Given the description of an element on the screen output the (x, y) to click on. 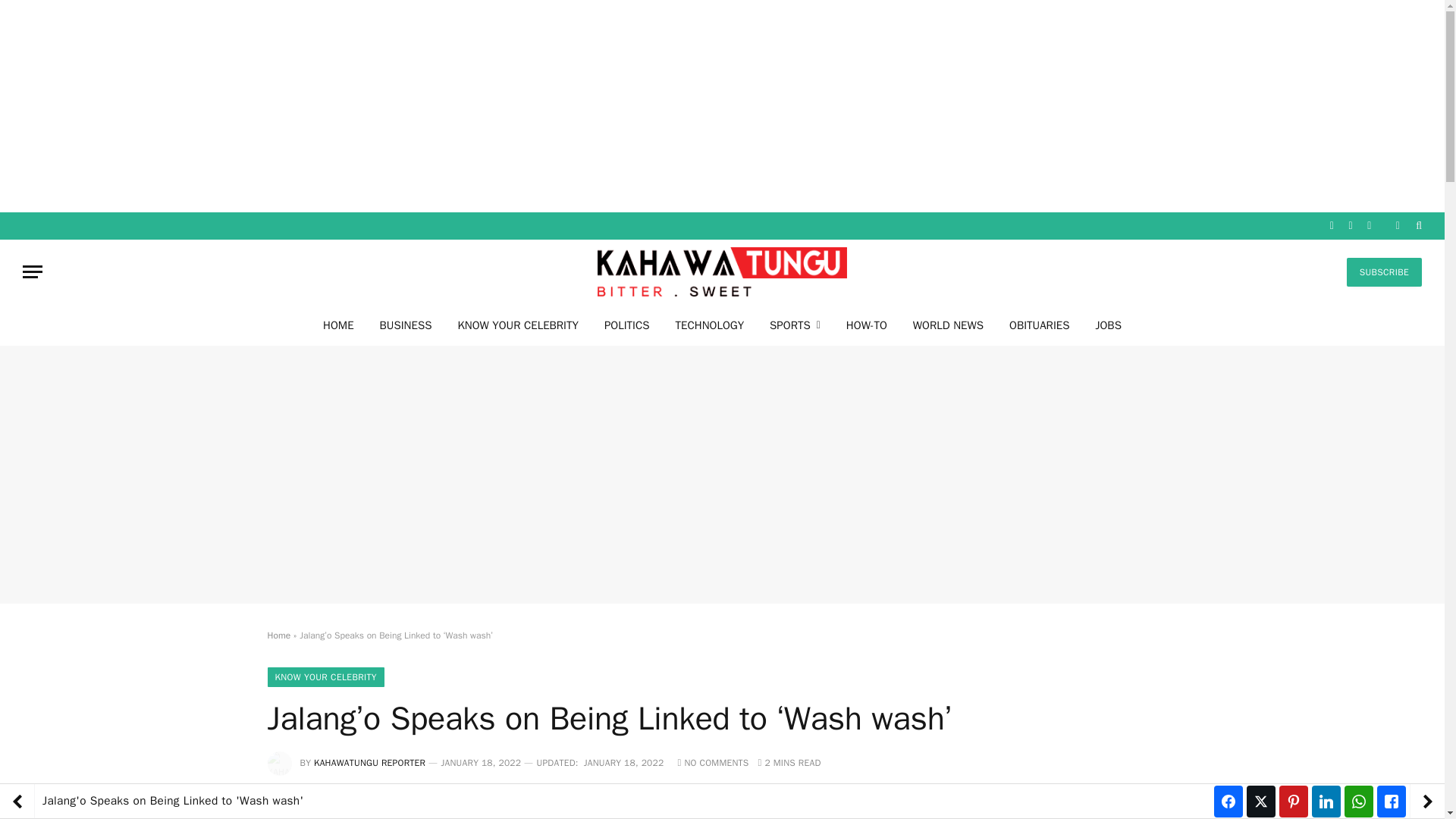
KNOW YOUR CELEBRITY (517, 324)
Share on WhatsApp (584, 805)
HOW-TO (865, 324)
Show More Social Sharing (656, 805)
Posts by KahawaTungu Reporter (369, 762)
HOME (338, 324)
BUSINESS (405, 324)
Share on Facebook (364, 805)
Twitter (474, 805)
KAHAWATUNGU REPORTER (369, 762)
